Given the description of an element on the screen output the (x, y) to click on. 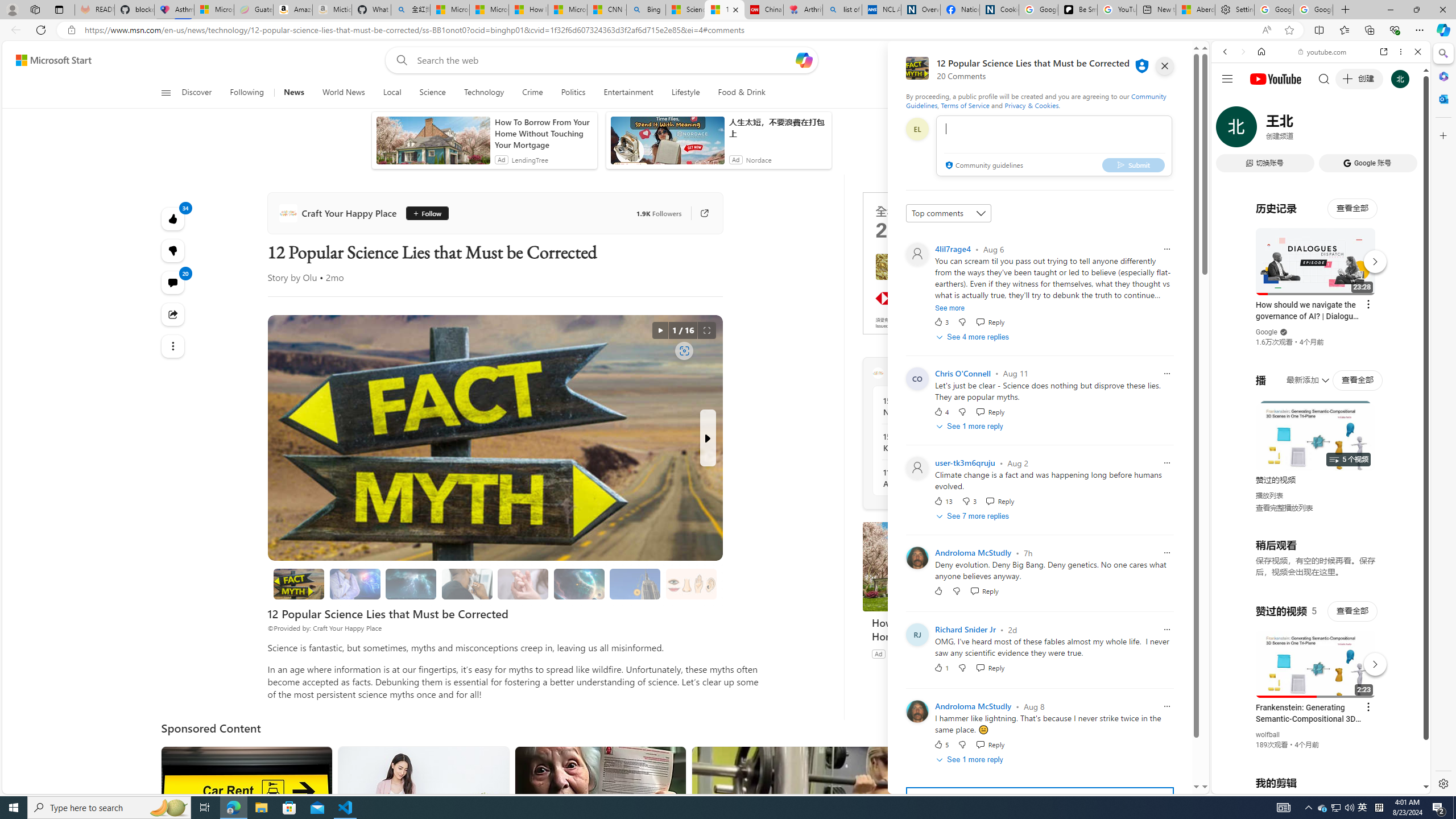
Search Filter, IMAGES (1262, 129)
12 Popular Science Lies that Must be Corrected (298, 583)
34 Like (172, 218)
Terminal Velocity of Falling Objects (634, 583)
Share this story (172, 314)
Shaving and Hair Growth (466, 583)
user-tk3m6qruju (964, 463)
